Given the description of an element on the screen output the (x, y) to click on. 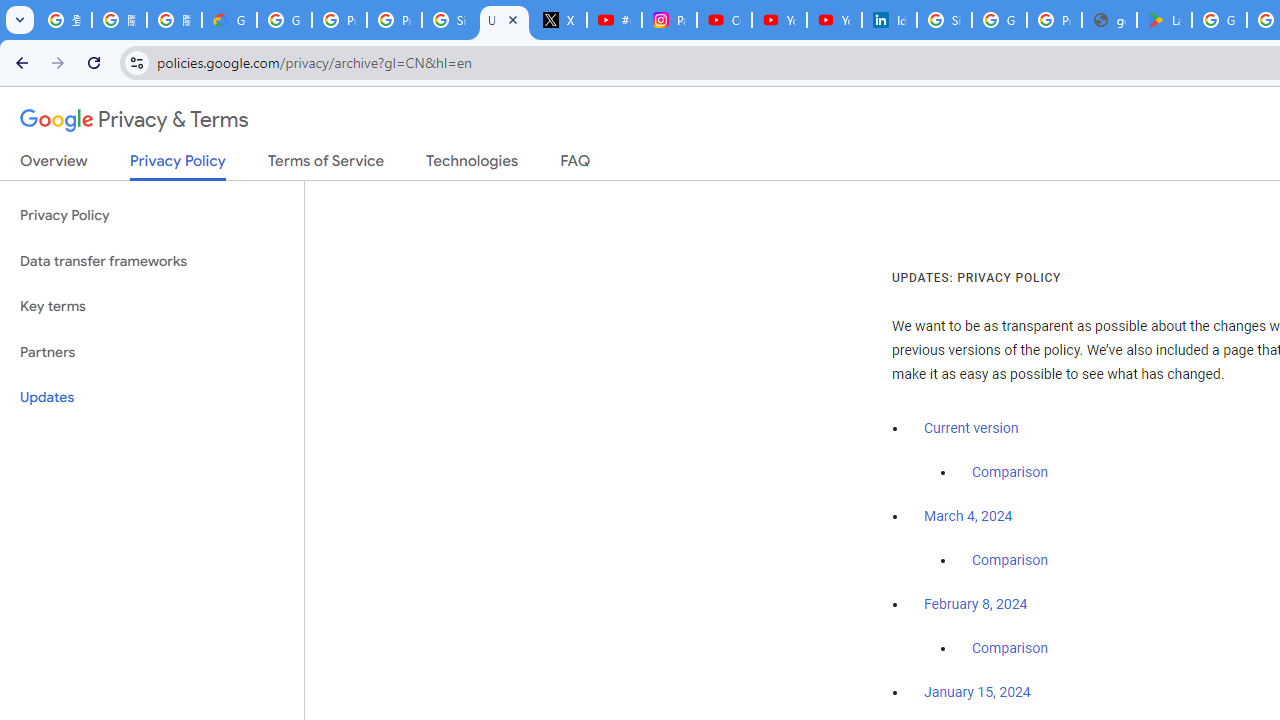
Last Shelter: Survival - Apps on Google Play (1163, 20)
Privacy Help Center - Policies Help (339, 20)
YouTube Culture & Trends - YouTube Top 10, 2021 (833, 20)
Google Cloud Privacy Notice (229, 20)
Privacy Help Center - Policies Help (394, 20)
March 4, 2024 (968, 517)
February 8, 2024 (975, 605)
